Given the description of an element on the screen output the (x, y) to click on. 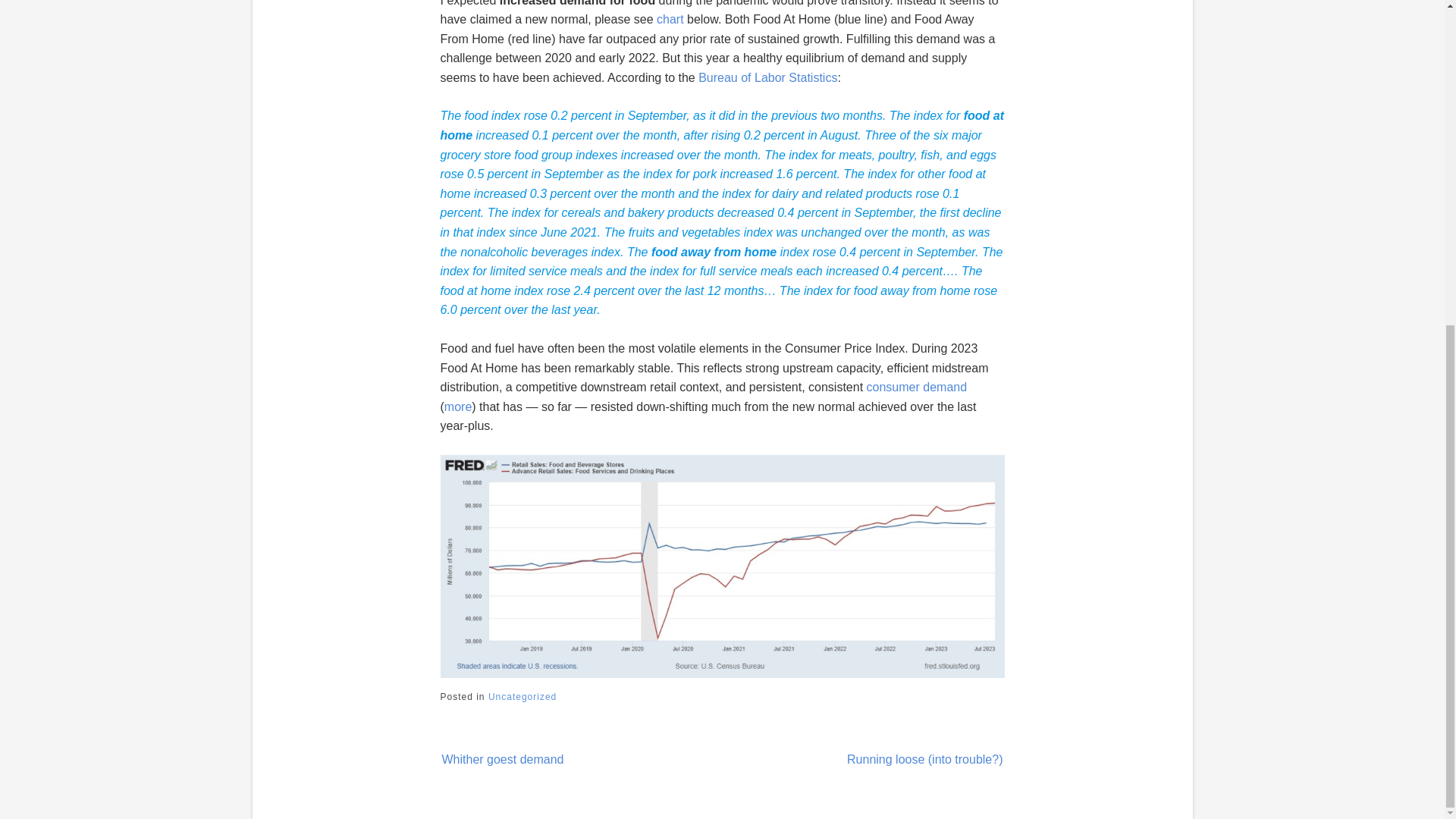
Bureau of Labor Statistics (767, 77)
more (457, 406)
chart (671, 19)
consumer demand (914, 386)
Whither goest demand (516, 757)
Uncategorized (521, 696)
